Given the description of an element on the screen output the (x, y) to click on. 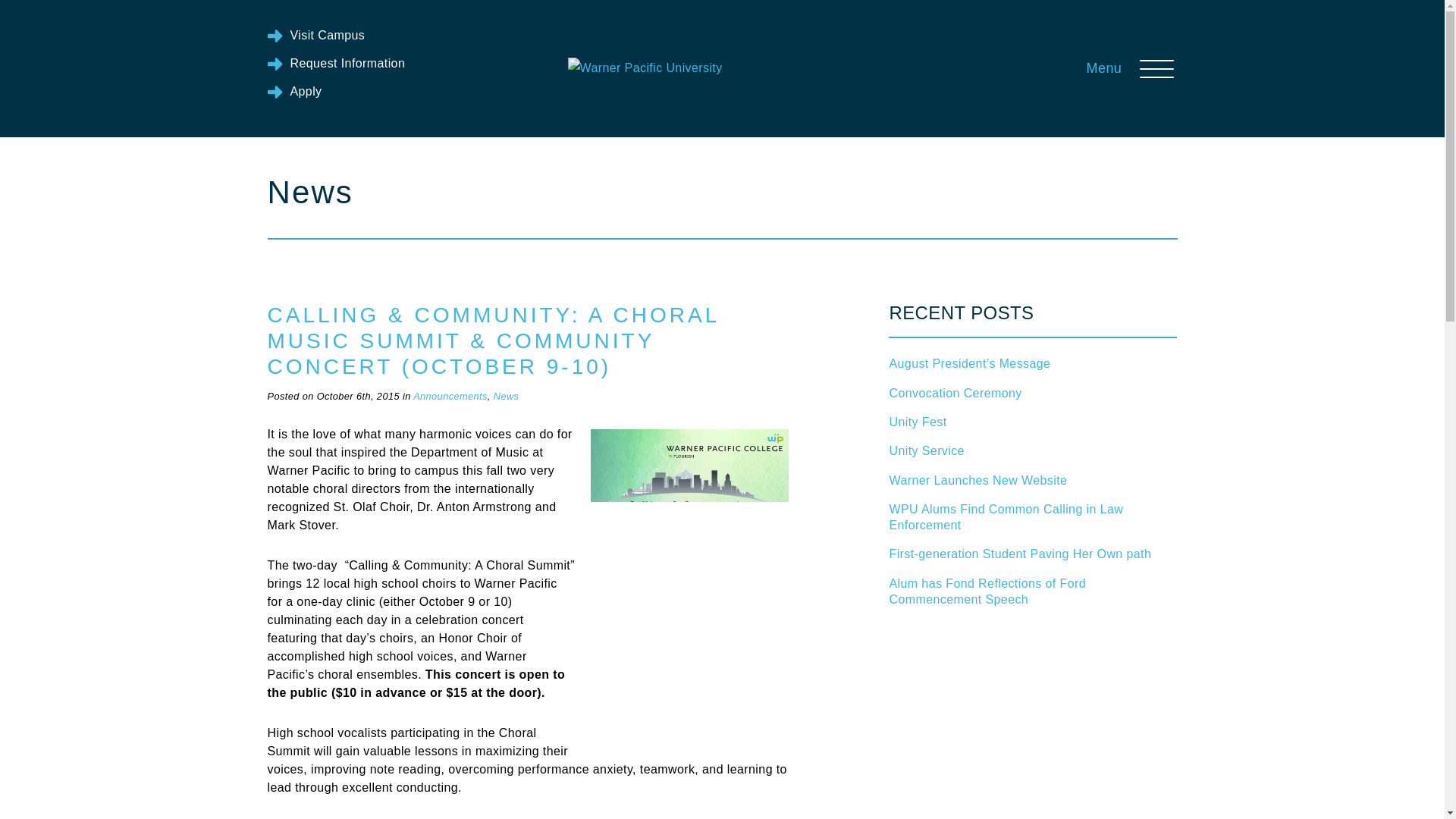
View the Apply page (293, 91)
View the Visit Campus page (315, 35)
Visit Campus (315, 35)
Apply (293, 91)
Request Information (335, 63)
Menu (1131, 68)
View the Request Information page (335, 63)
